Given the description of an element on the screen output the (x, y) to click on. 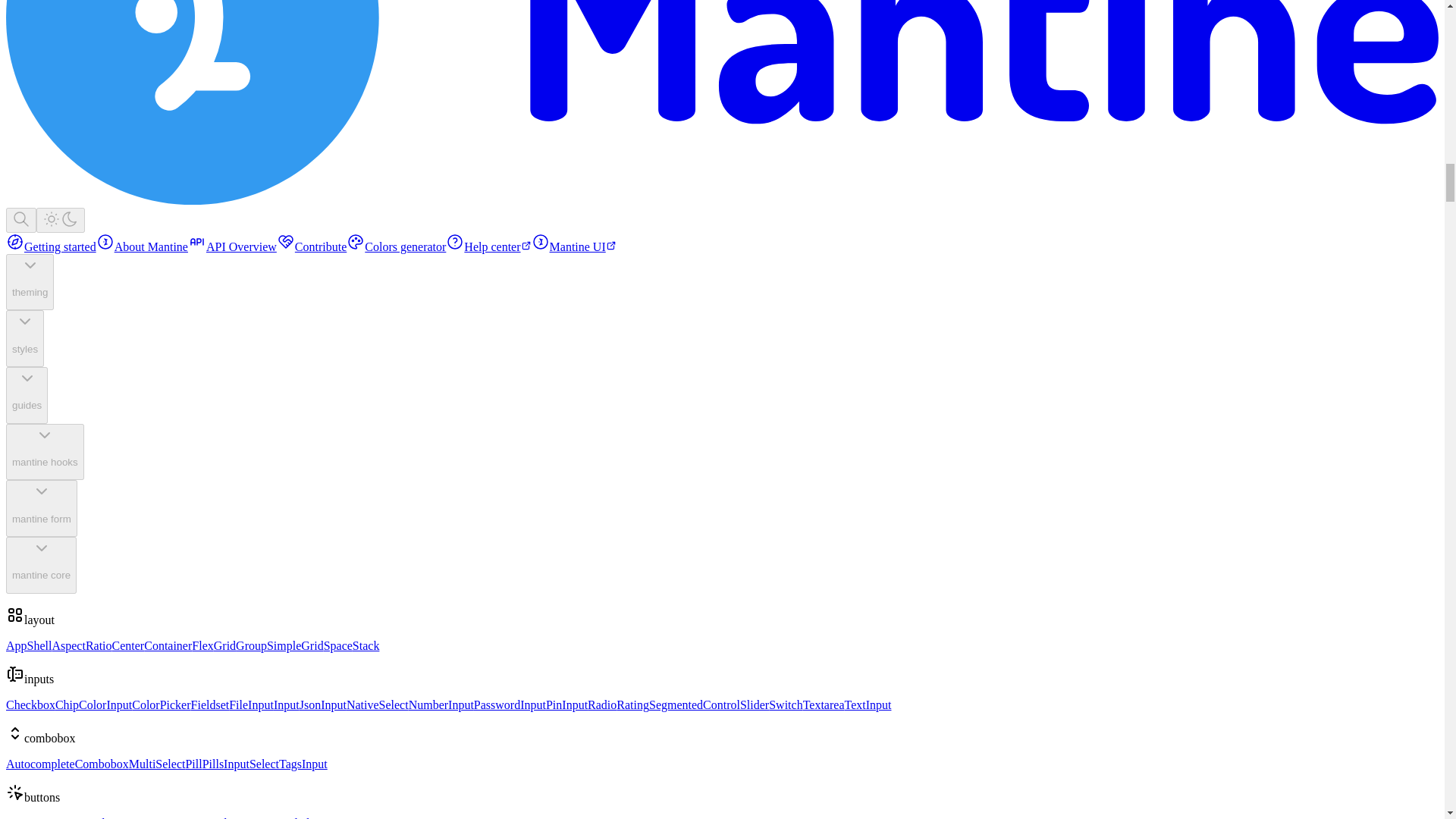
About Mantine (141, 246)
mantine form (41, 508)
Grid (224, 645)
SimpleGrid (294, 645)
Stack (366, 645)
Container (168, 645)
Space (337, 645)
ColorInput (105, 704)
Fieldset (210, 704)
mantine core (41, 565)
FileInput (250, 704)
Flex (202, 645)
Center (128, 645)
API Overview (231, 246)
AppShell (27, 645)
